Given the description of an element on the screen output the (x, y) to click on. 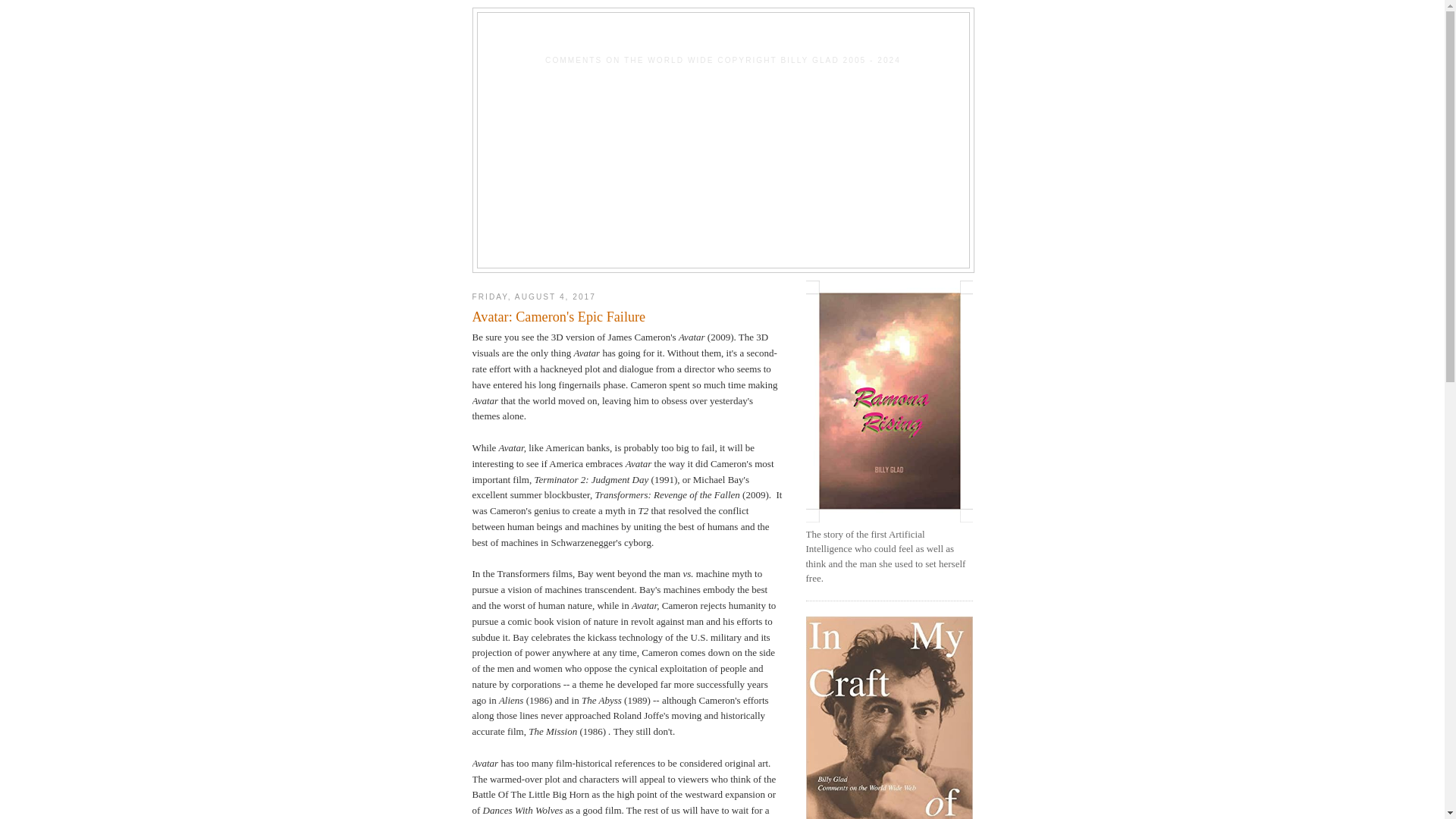
ANNALS OF THE HIVE (723, 38)
Avatar: Cameron's Epic Failure (627, 316)
